Given the description of an element on the screen output the (x, y) to click on. 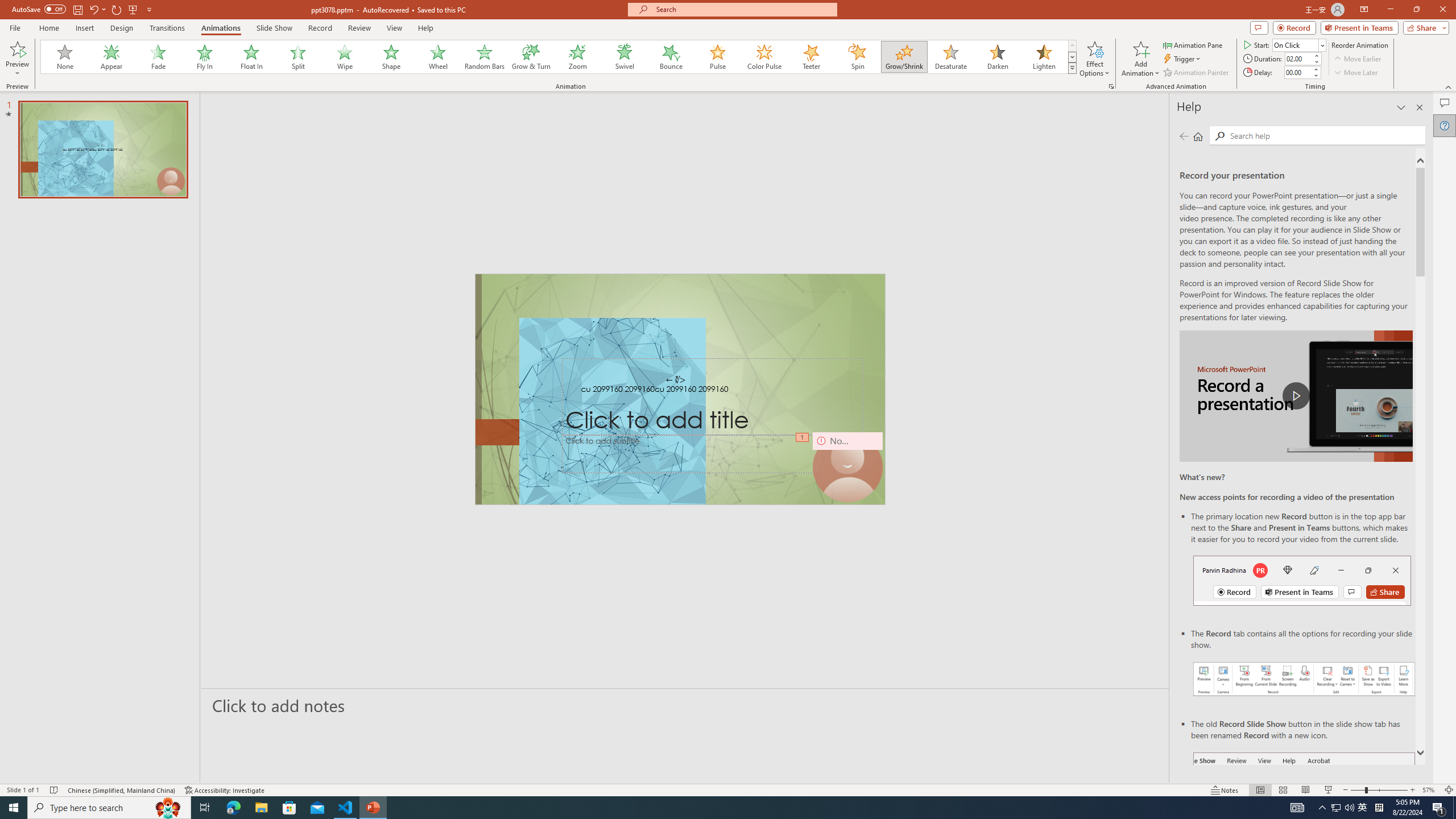
Record button in top bar (1301, 580)
Record your presentations screenshot one (1304, 678)
Camera 9, No camera detected. (846, 466)
Color Pulse (764, 56)
Bounce (670, 56)
play Record a Presentation (1296, 395)
Split (298, 56)
Random Bars (484, 56)
